Given the description of an element on the screen output the (x, y) to click on. 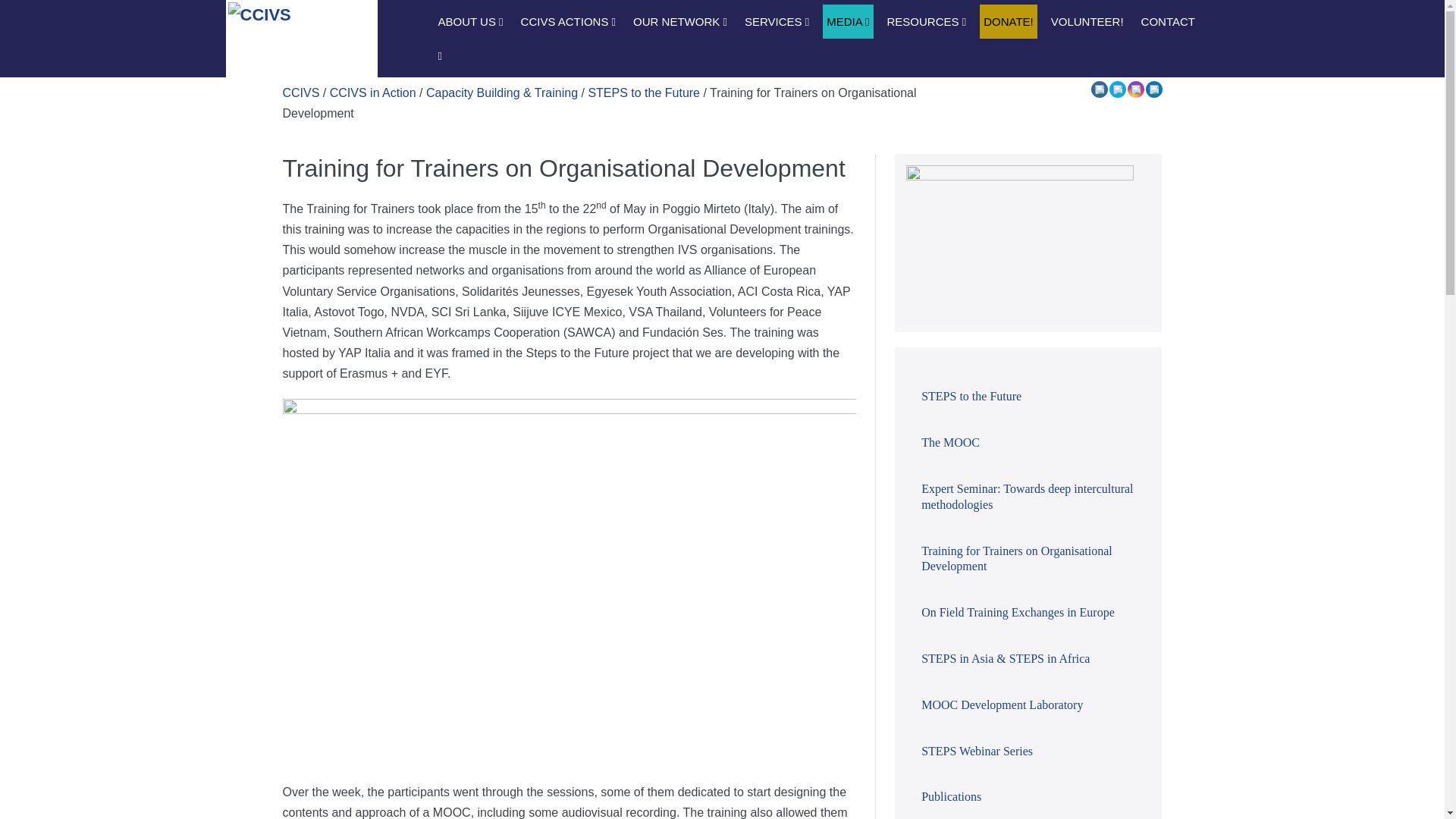
RESOURCES (925, 21)
Go to CCIVS in Action. (373, 92)
MEDIA (847, 21)
CCIVS ACTIONS (568, 21)
LinkedIn (1152, 89)
CONTACT (1167, 21)
ABOUT US (469, 21)
OUR NETWORK (679, 21)
Facebook (1098, 89)
Instagram (1135, 89)
